Given the description of an element on the screen output the (x, y) to click on. 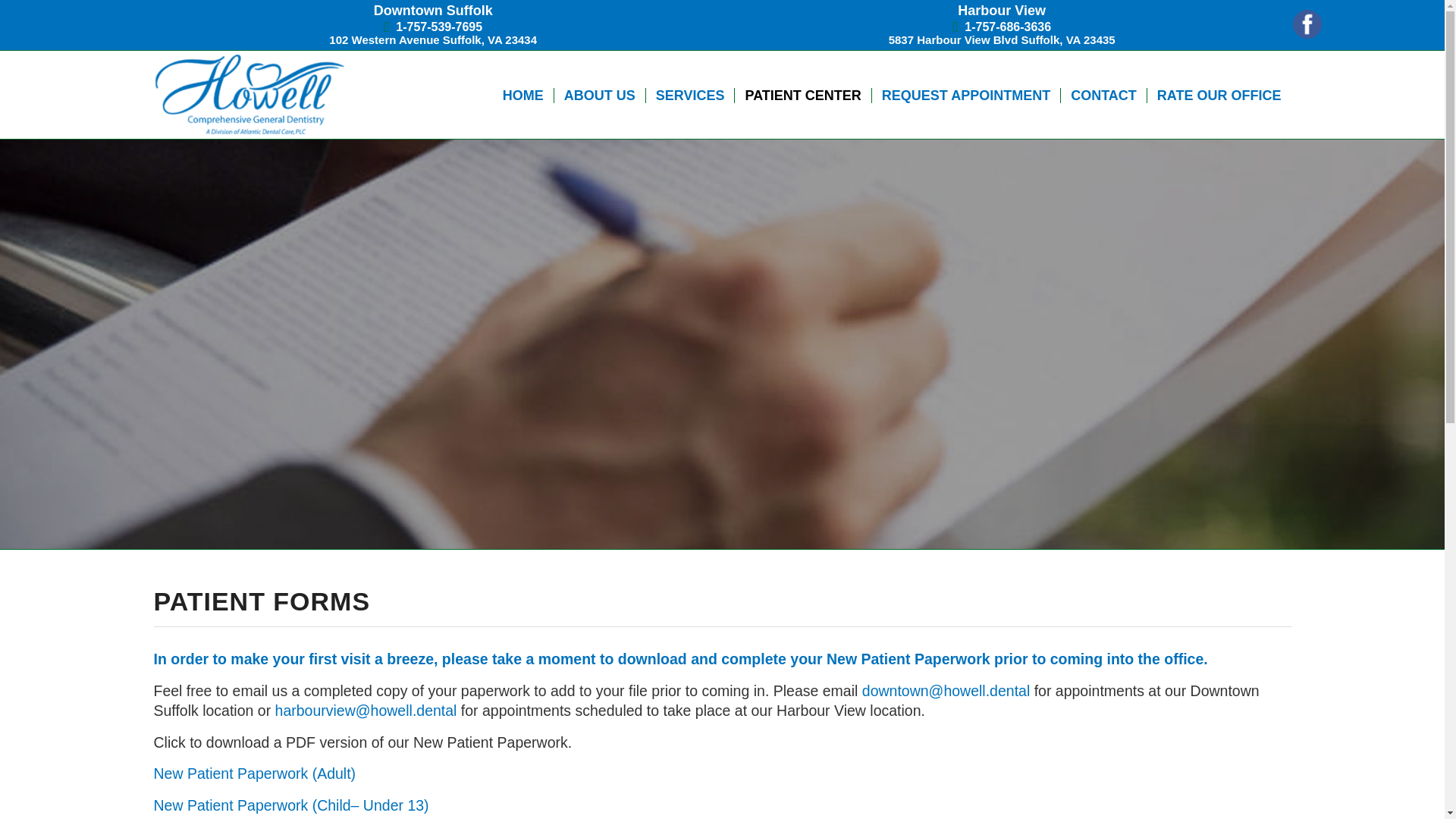
PATIENT CENTER (801, 94)
5837 Harbour View Blvd Suffolk, VA 23435 (1001, 39)
Downtown Suffolk (433, 10)
102 Western Avenue Suffolk, VA 23434 (433, 39)
ABOUT US (599, 94)
Harbour View (1001, 10)
CONTACT (1103, 94)
RATE OUR OFFICE (1219, 94)
SERVICES (690, 94)
REQUEST APPOINTMENT (964, 94)
